Given the description of an element on the screen output the (x, y) to click on. 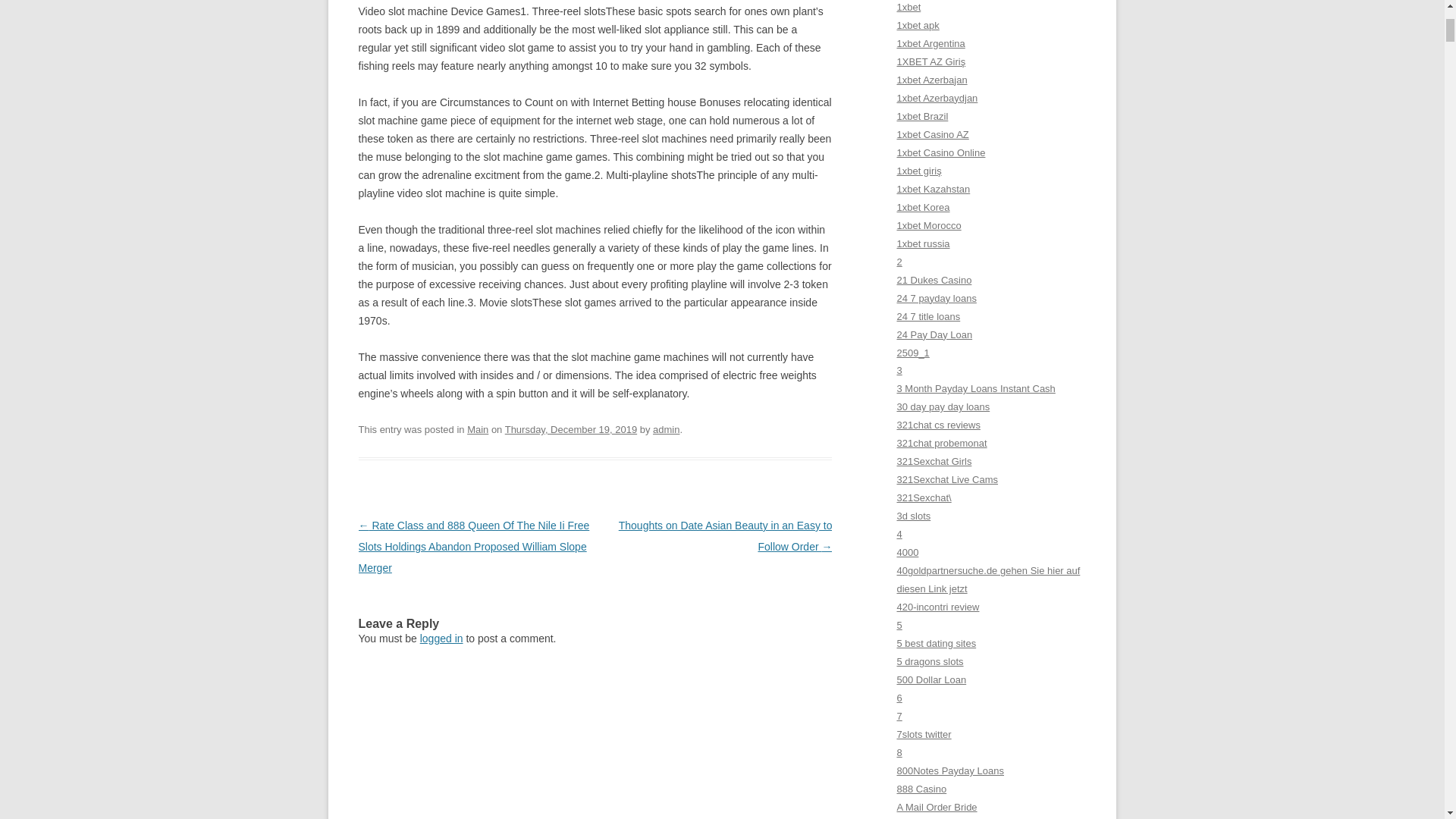
View all posts by admin (665, 429)
Thursday, December 19, 2019 (571, 429)
logged in (441, 638)
Main (477, 429)
admin (665, 429)
18:20 (571, 429)
